Given the description of an element on the screen output the (x, y) to click on. 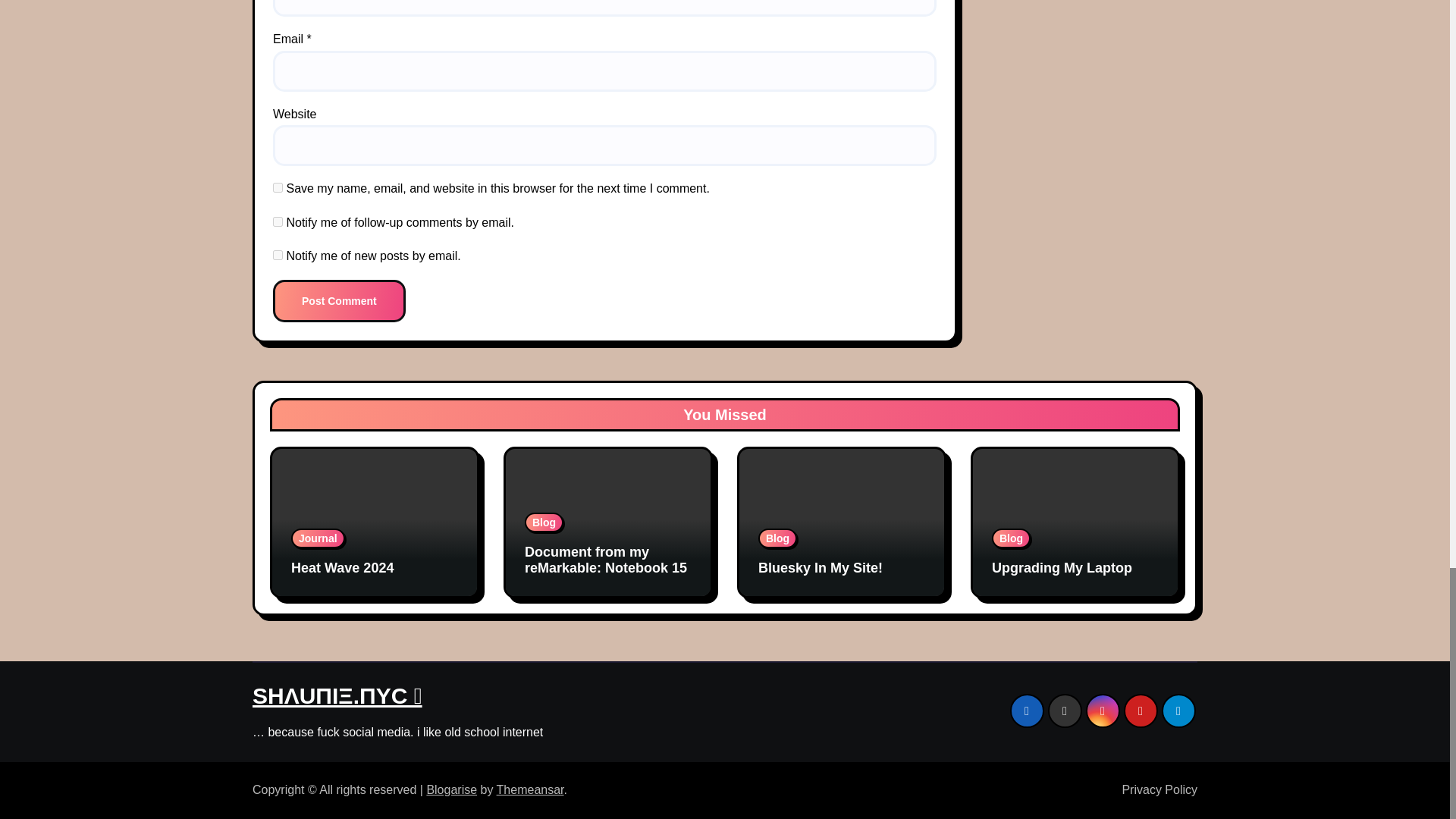
Permalink to: Upgrading My Laptop (1061, 567)
Privacy Policy (1152, 789)
subscribe (277, 221)
yes (277, 187)
Post Comment (339, 301)
Permalink to: Heat Wave 2024 (342, 567)
Permalink to: Document from my reMarkable: Notebook 15 (605, 560)
Permalink to: Bluesky In My Site! (820, 567)
subscribe (277, 255)
